Given the description of an element on the screen output the (x, y) to click on. 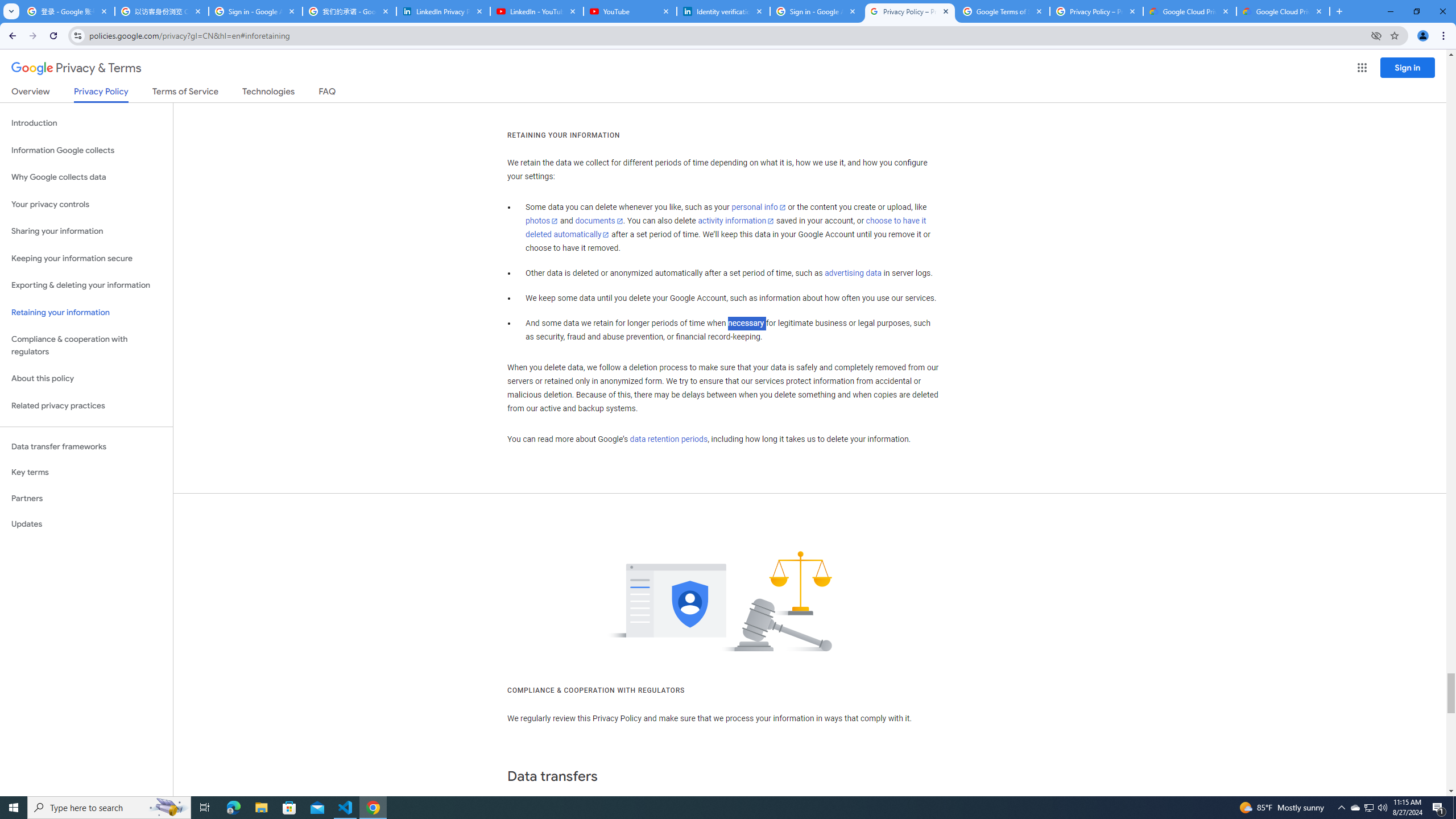
Data transfer frameworks (86, 446)
Keeping your information secure (86, 258)
activity information (735, 221)
photos (542, 221)
Why Google collects data (86, 176)
